Given the description of an element on the screen output the (x, y) to click on. 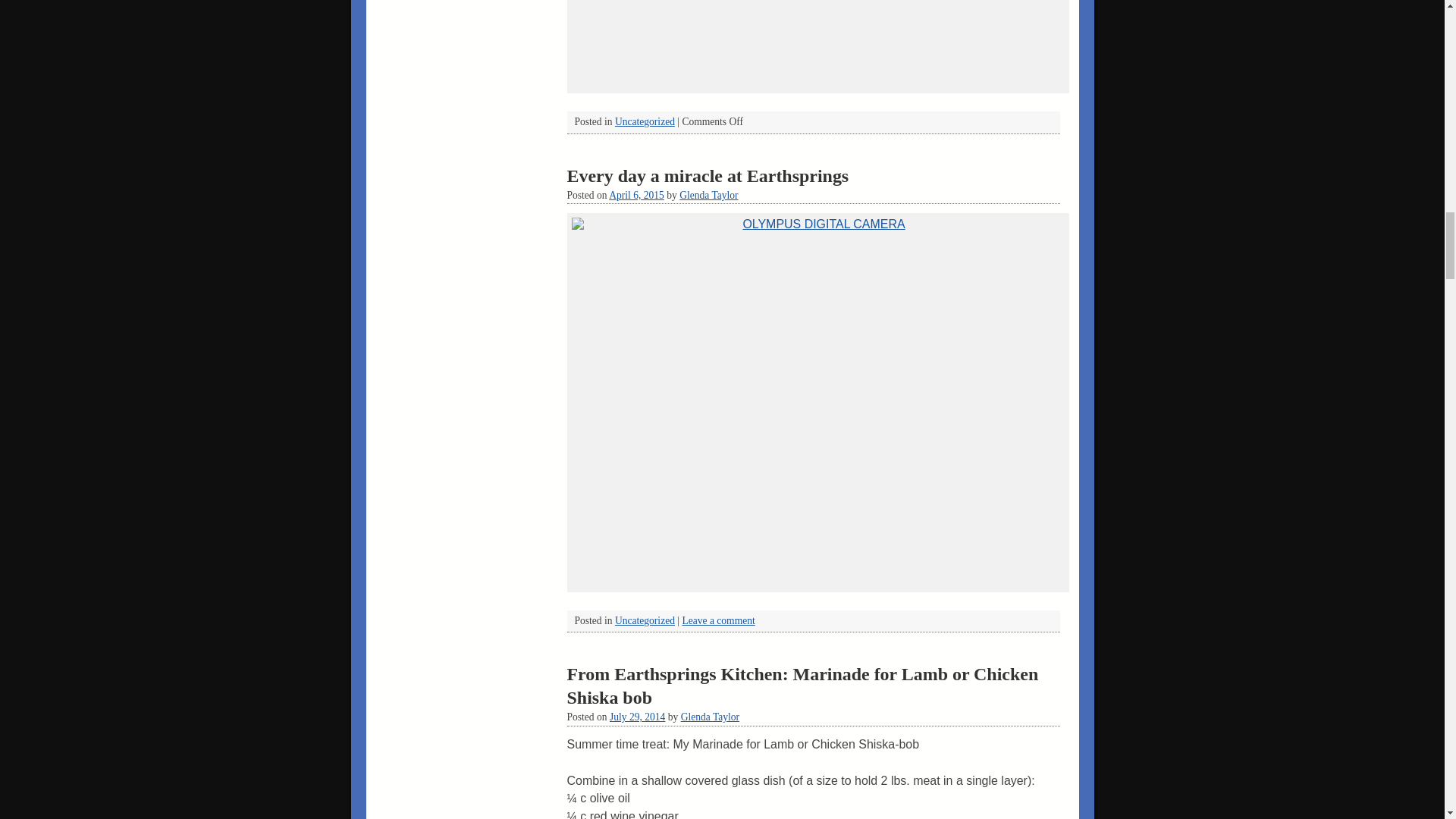
Permalink to Every day a miracle at Earthsprings (707, 175)
View all posts by Glenda Taylor (708, 194)
7:54 pm (635, 194)
Uncategorized (644, 121)
